Given the description of an element on the screen output the (x, y) to click on. 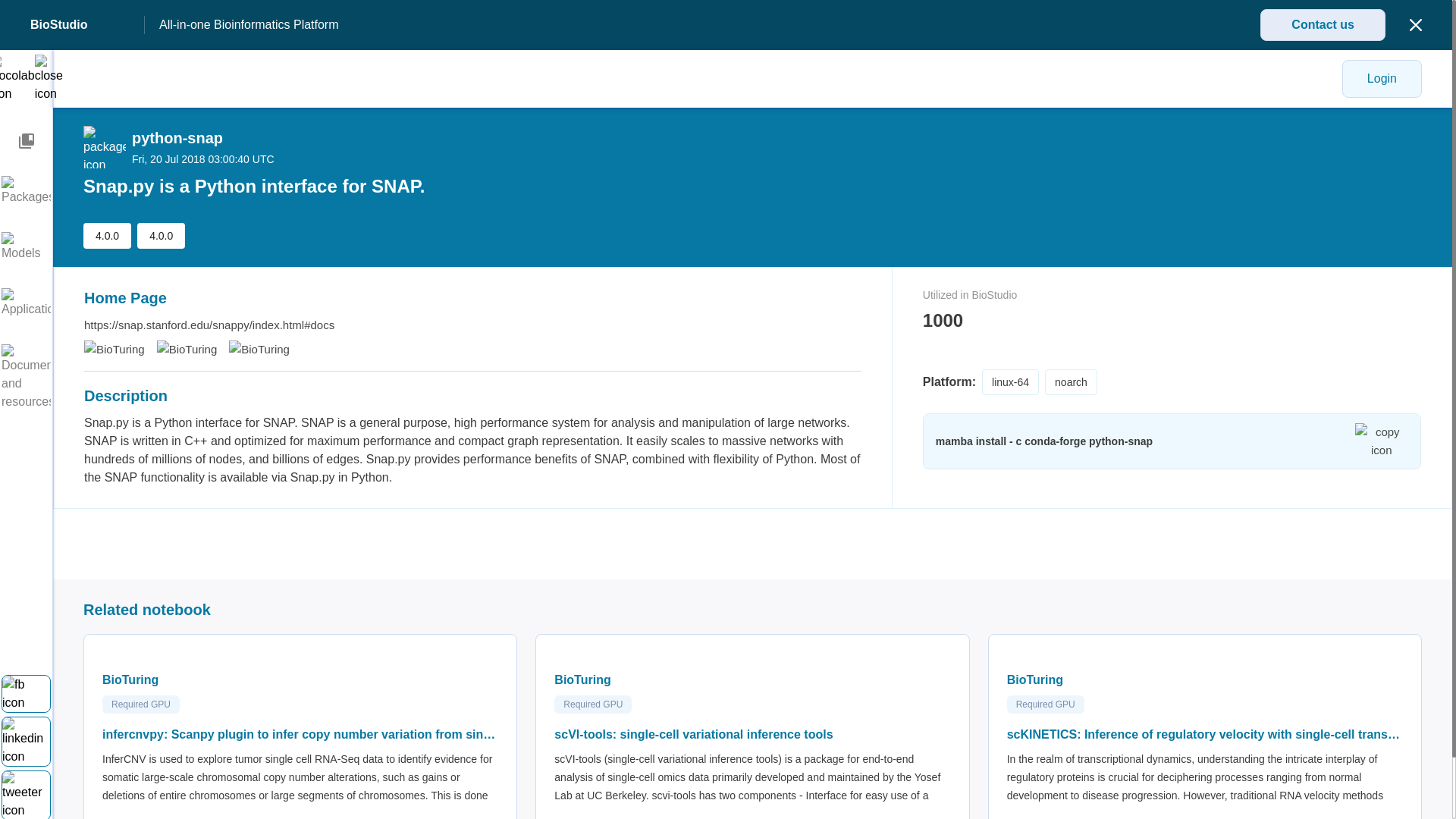
Applications (25, 302)
scVI-tools: single-cell variational inference tools (752, 734)
Packages (25, 190)
Notebooks (25, 141)
4.0.0 (106, 235)
scVI-tools: single-cell variational inference tools (752, 734)
4.0.0 (160, 235)
